Given the description of an element on the screen output the (x, y) to click on. 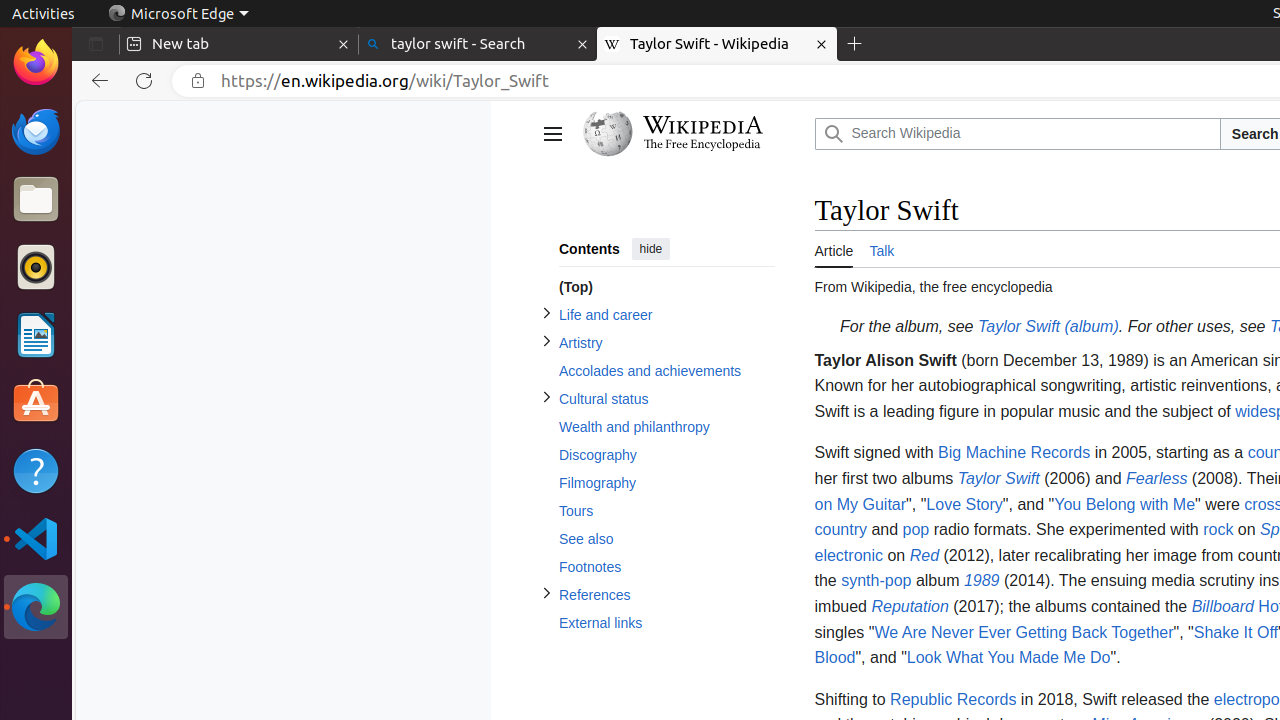
Look What You Made Me Do Element type: link (1008, 658)
Shake It Off Element type: link (1235, 632)
Big Machine Records Element type: link (1014, 453)
Toggle Artistry subsection Element type: push-button (546, 341)
Talk Element type: link (882, 248)
